Given the description of an element on the screen output the (x, y) to click on. 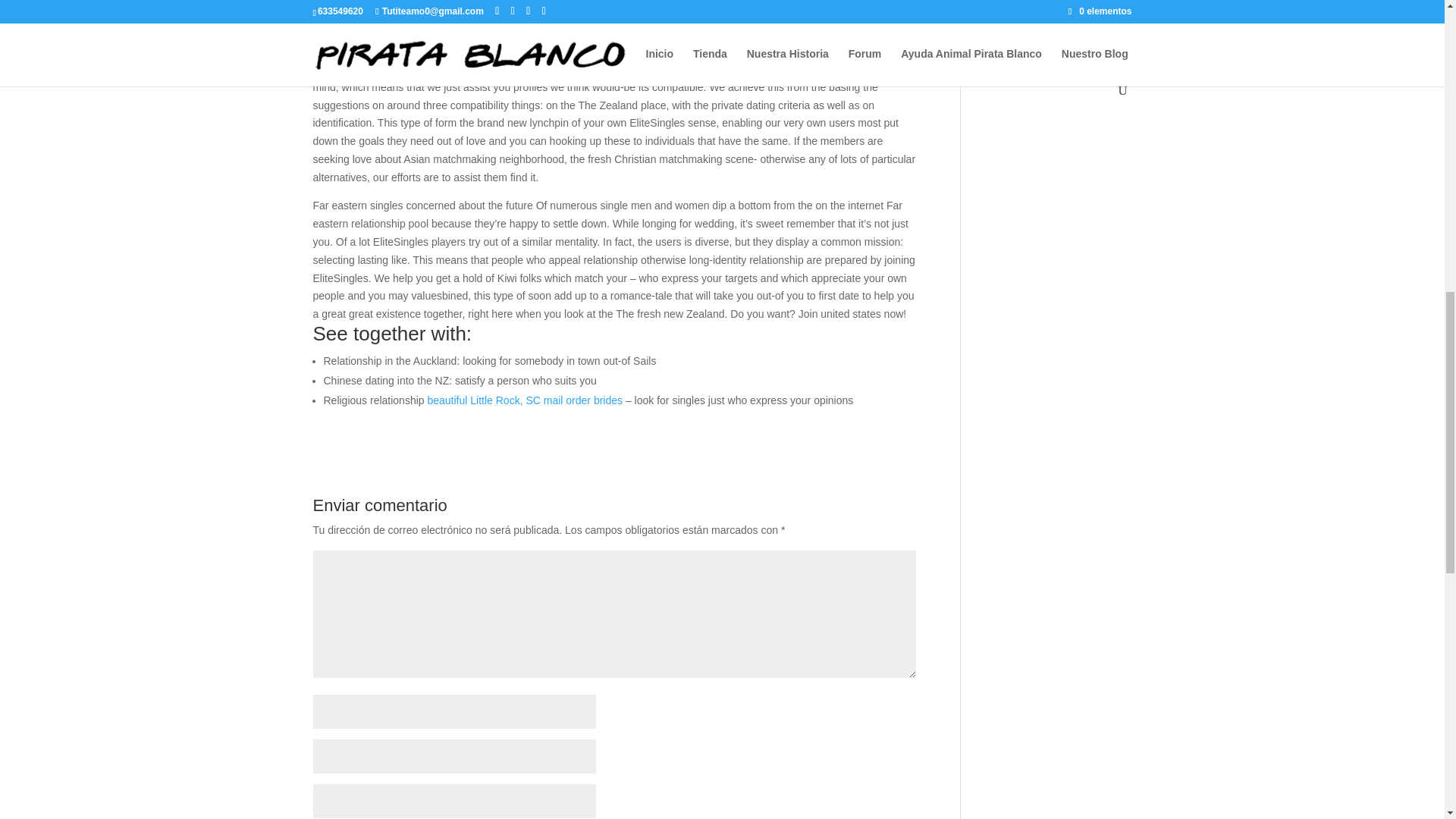
beautiful Little Rock, SC mail order brides (524, 399)
